Given the description of an element on the screen output the (x, y) to click on. 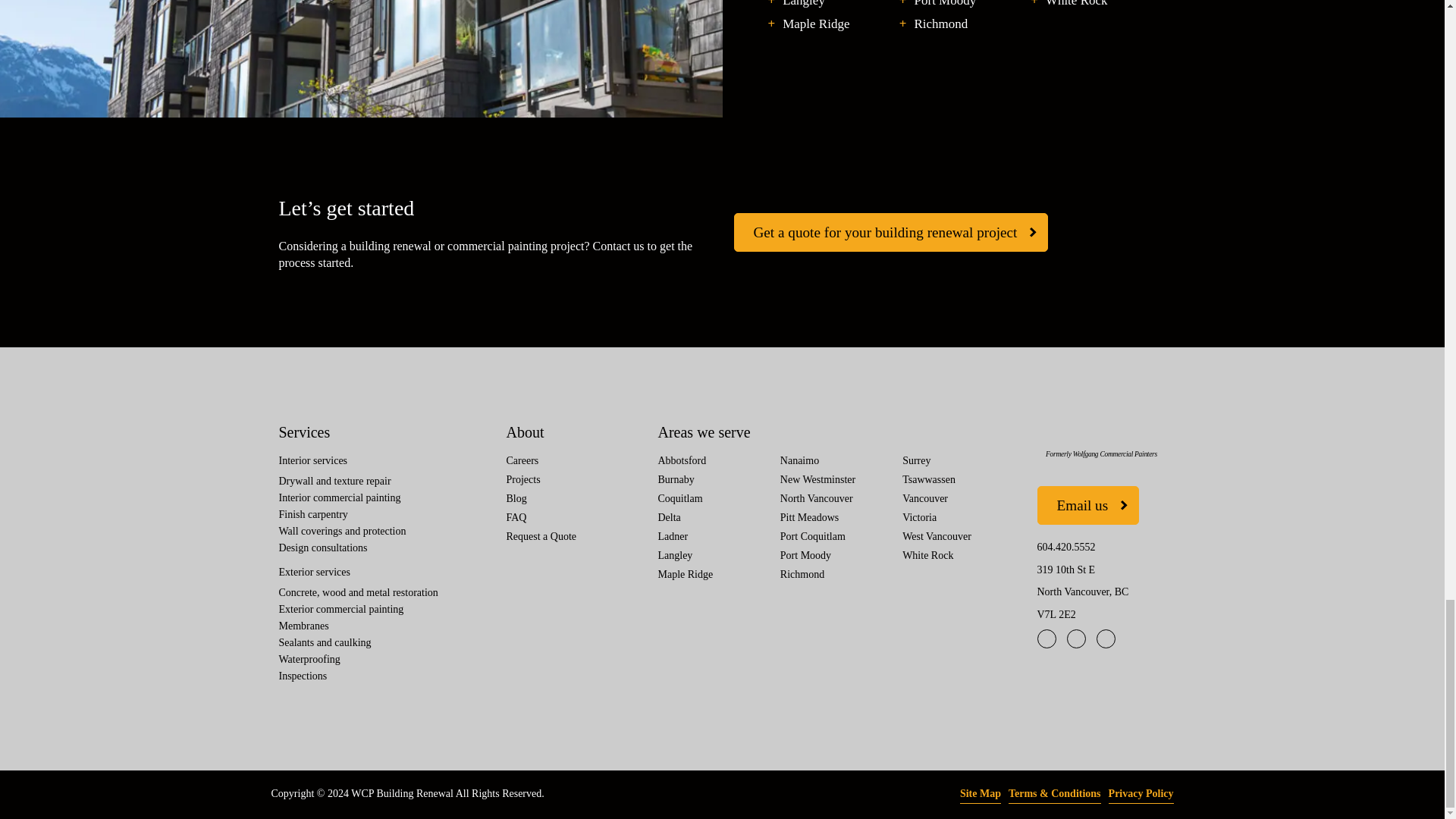
Wolfgang Commercial Painters (1101, 431)
6044205552 (1066, 546)
Langley (804, 4)
